Given the description of an element on the screen output the (x, y) to click on. 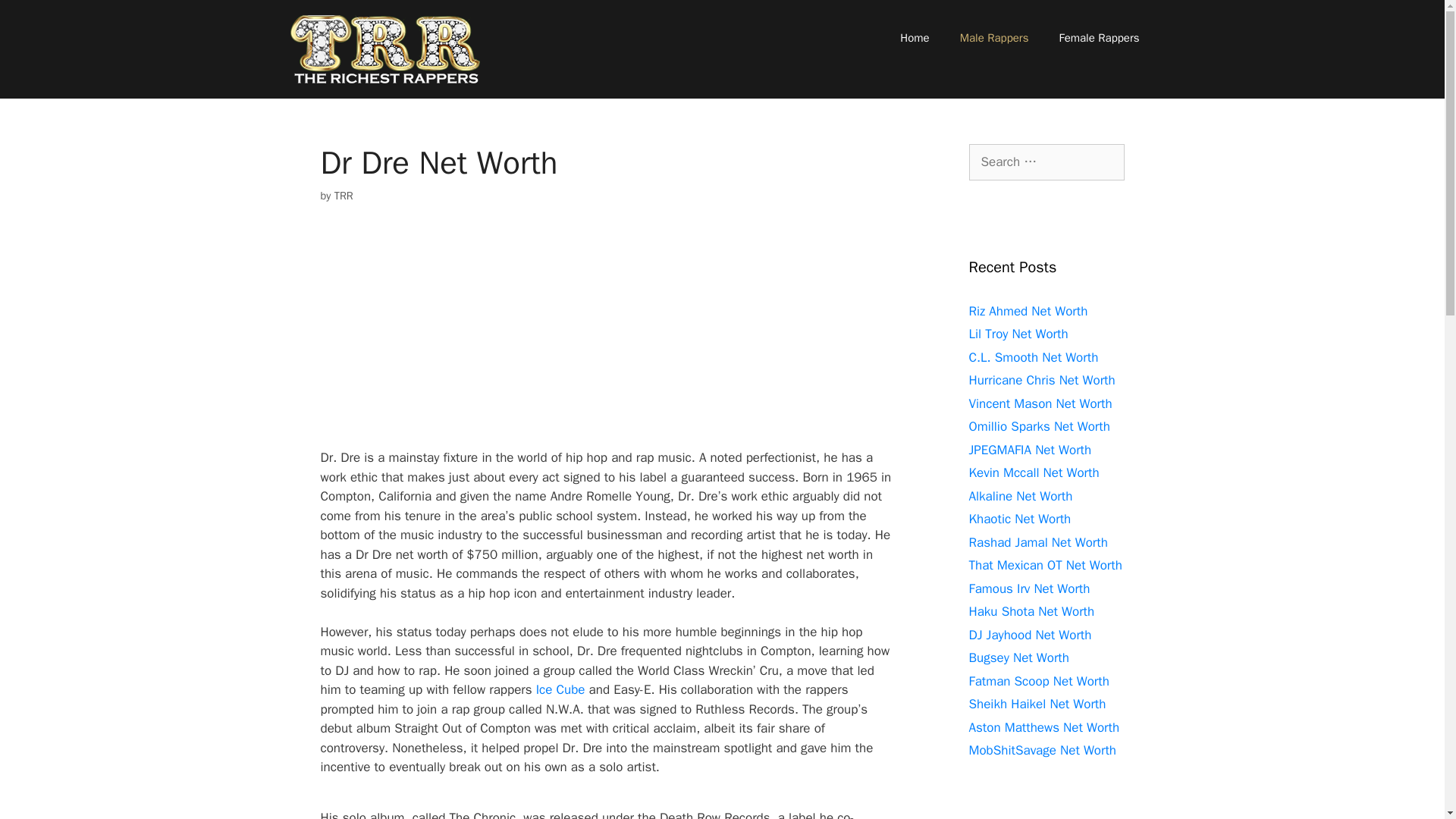
Khaotic Net Worth (1020, 519)
Ice Cube (560, 689)
C.L. Smooth Net Worth (1034, 356)
Vincent Mason Net Worth (1040, 403)
Hurricane Chris Net Worth (1042, 380)
Famous Irv Net Worth (1029, 588)
Advertisement (615, 336)
That Mexican OT Net Worth (1045, 565)
TRR (343, 195)
Rashad Jamal Net Worth (1038, 541)
Ice Cube (560, 689)
Alkaline Net Worth (1021, 496)
Lil Troy Net Worth (1018, 333)
Riz Ahmed Net Worth (1028, 311)
Search for: (1046, 162)
